Given the description of an element on the screen output the (x, y) to click on. 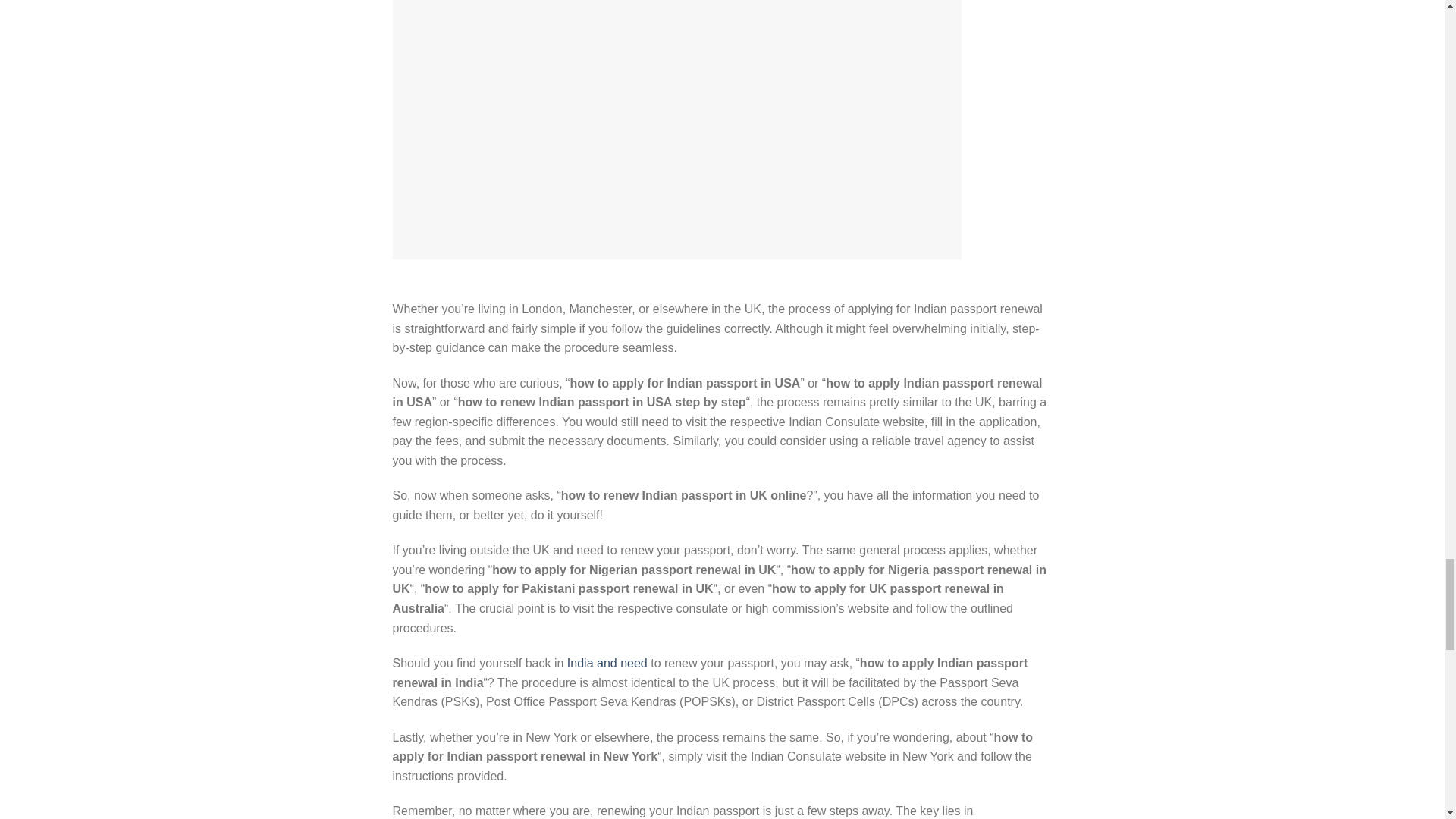
India and need (607, 662)
